Given the description of an element on the screen output the (x, y) to click on. 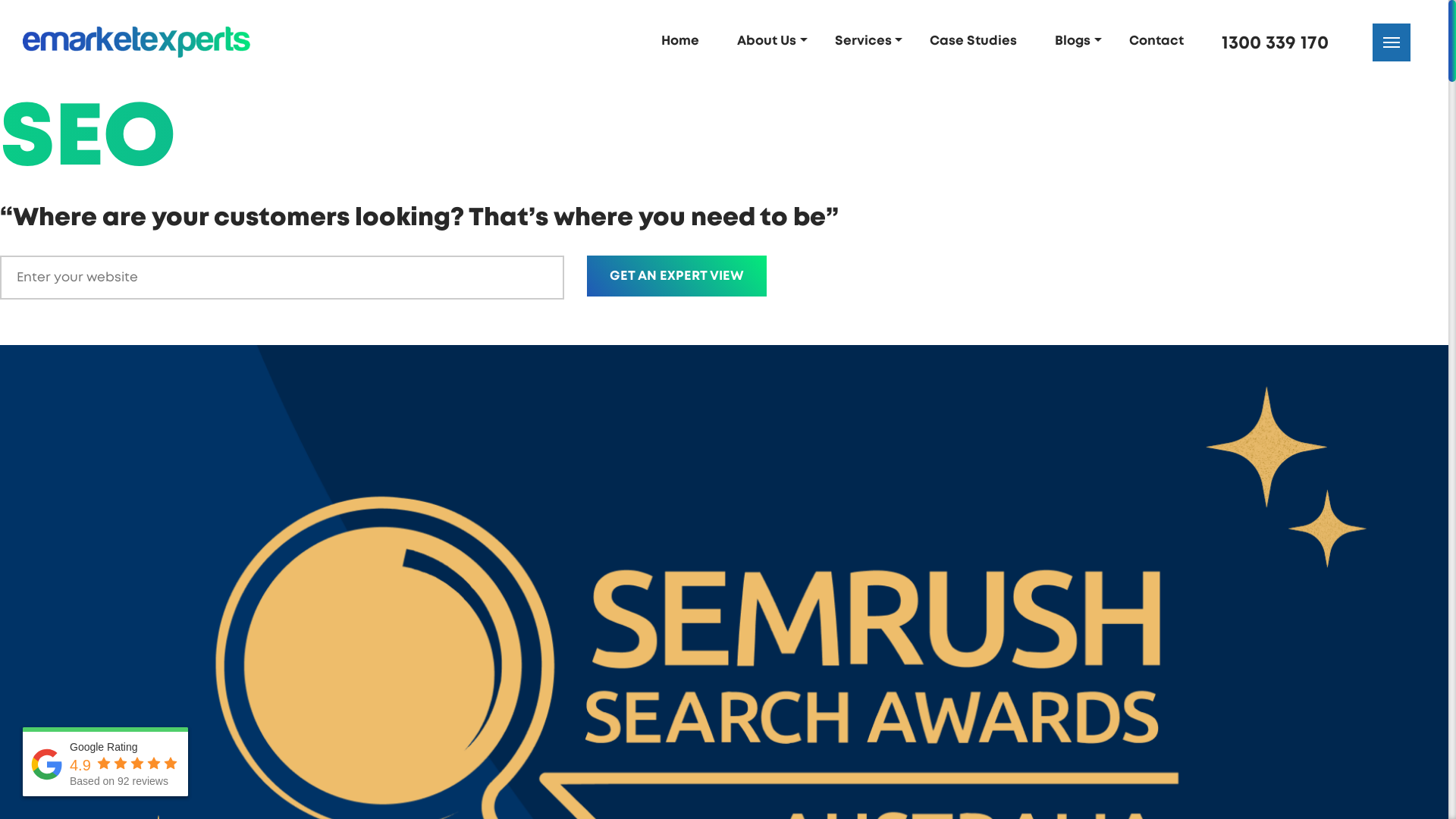
GET AN EXPERT VIEW Element type: text (676, 275)
About Us Element type: text (771, 40)
1300 339 170 Element type: text (1282, 43)
Case Studies Element type: text (978, 40)
Services Element type: text (868, 40)
Home Element type: text (685, 40)
Contact Element type: text (1161, 40)
Blogs Element type: text (1077, 40)
